Given the description of an element on the screen output the (x, y) to click on. 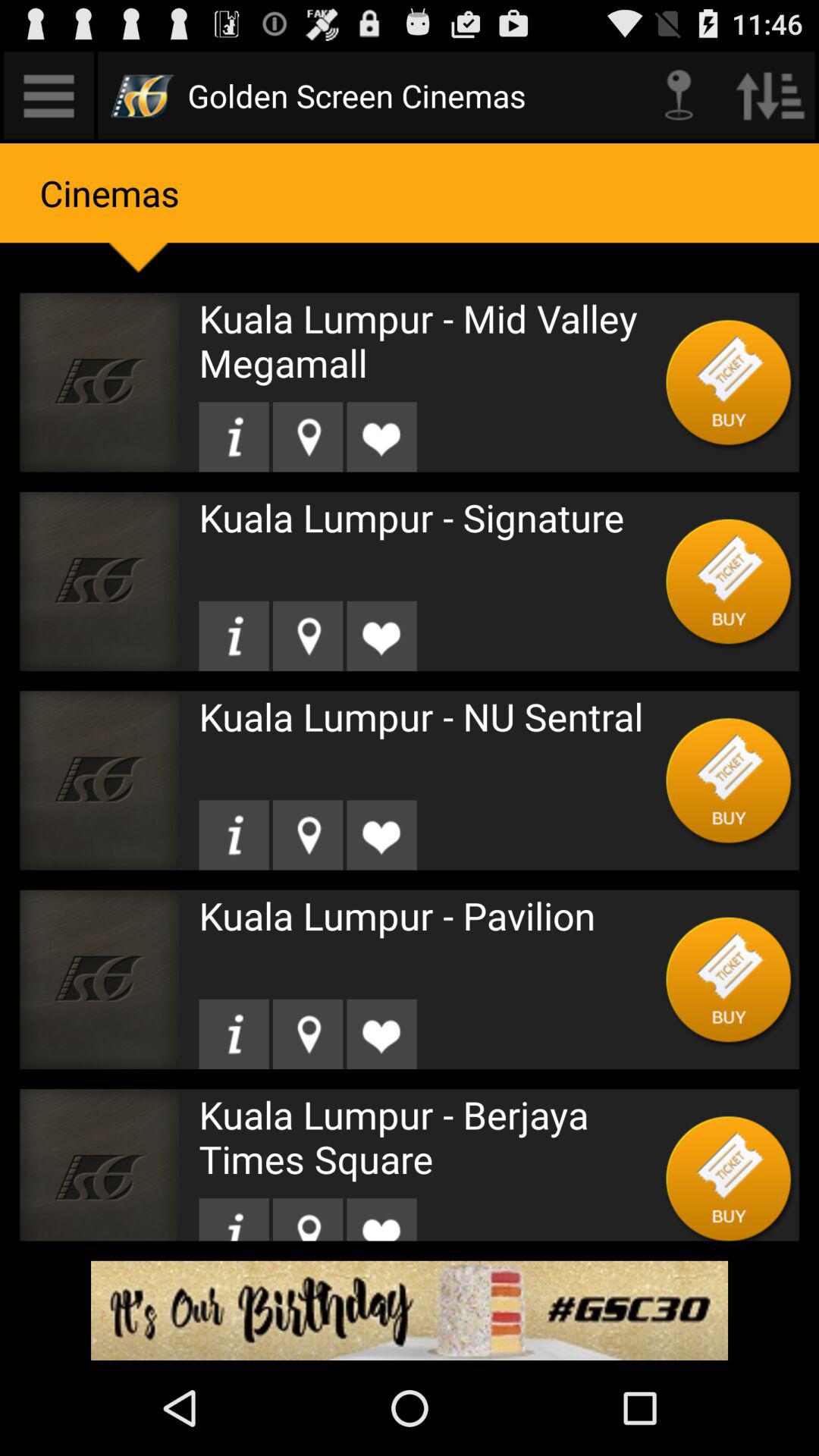
see location (307, 1034)
